Given the description of an element on the screen output the (x, y) to click on. 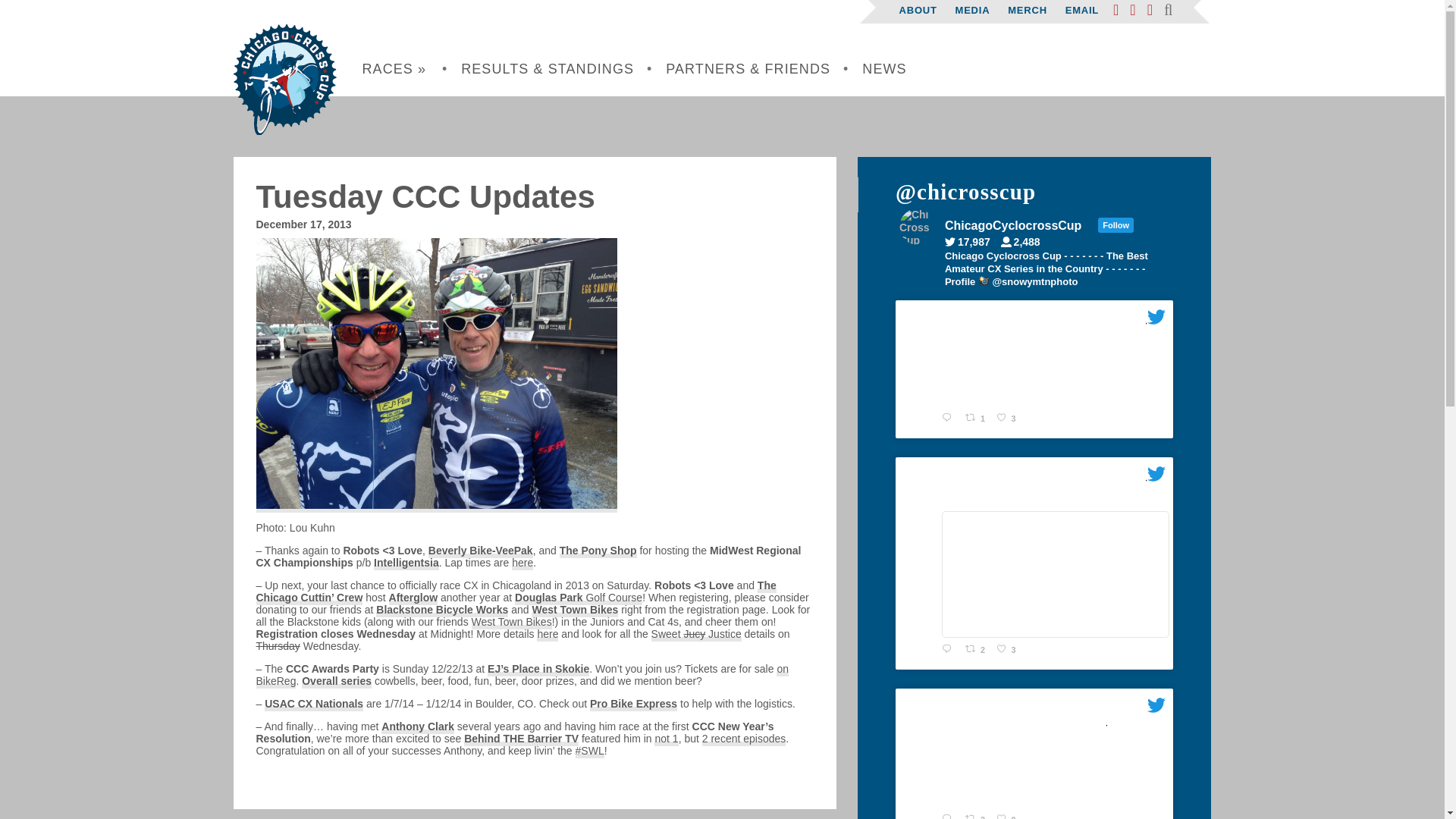
17,987 Tweets (970, 241)
MEDIA (972, 9)
NEWS (884, 68)
Festivus for the Rest of Us (436, 373)
EMAIL (1082, 9)
Search (107, 307)
2,488 Followers (1024, 241)
ABOUT (917, 9)
Beverly Bike-VeePak (480, 550)
MERCH (1027, 9)
